Given the description of an element on the screen output the (x, y) to click on. 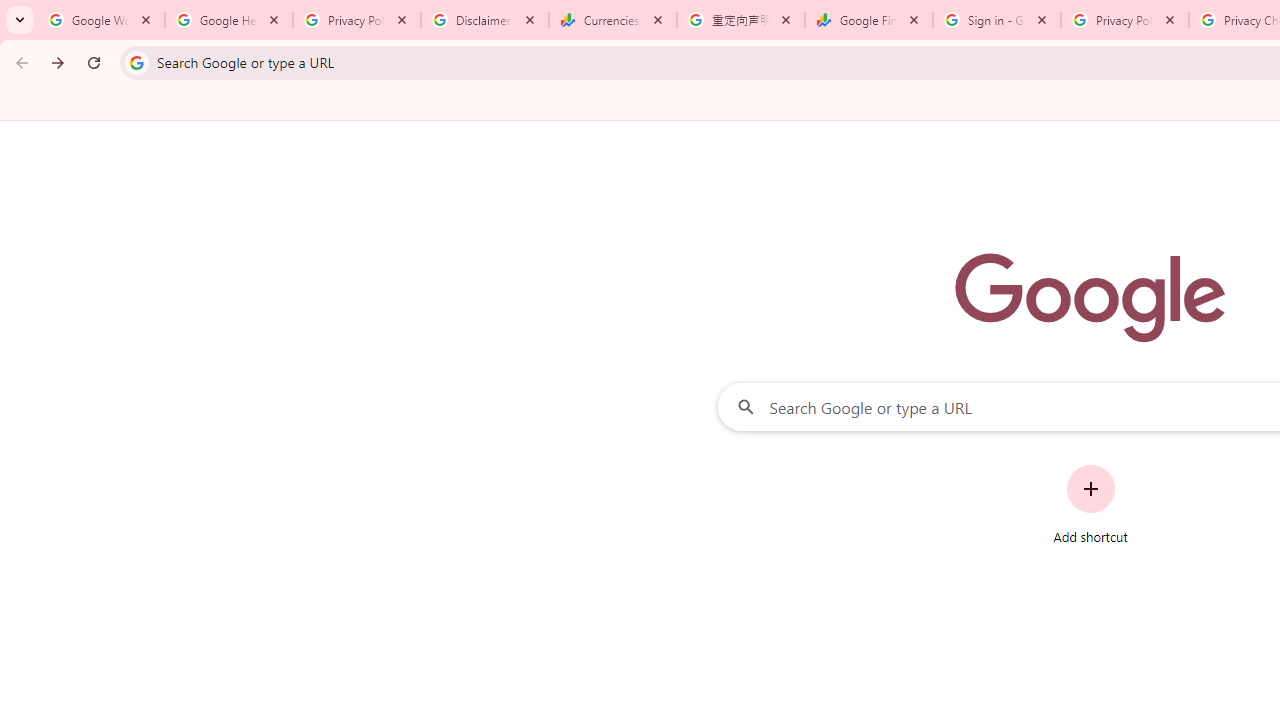
Sign in - Google Accounts (997, 20)
